Given the description of an element on the screen output the (x, y) to click on. 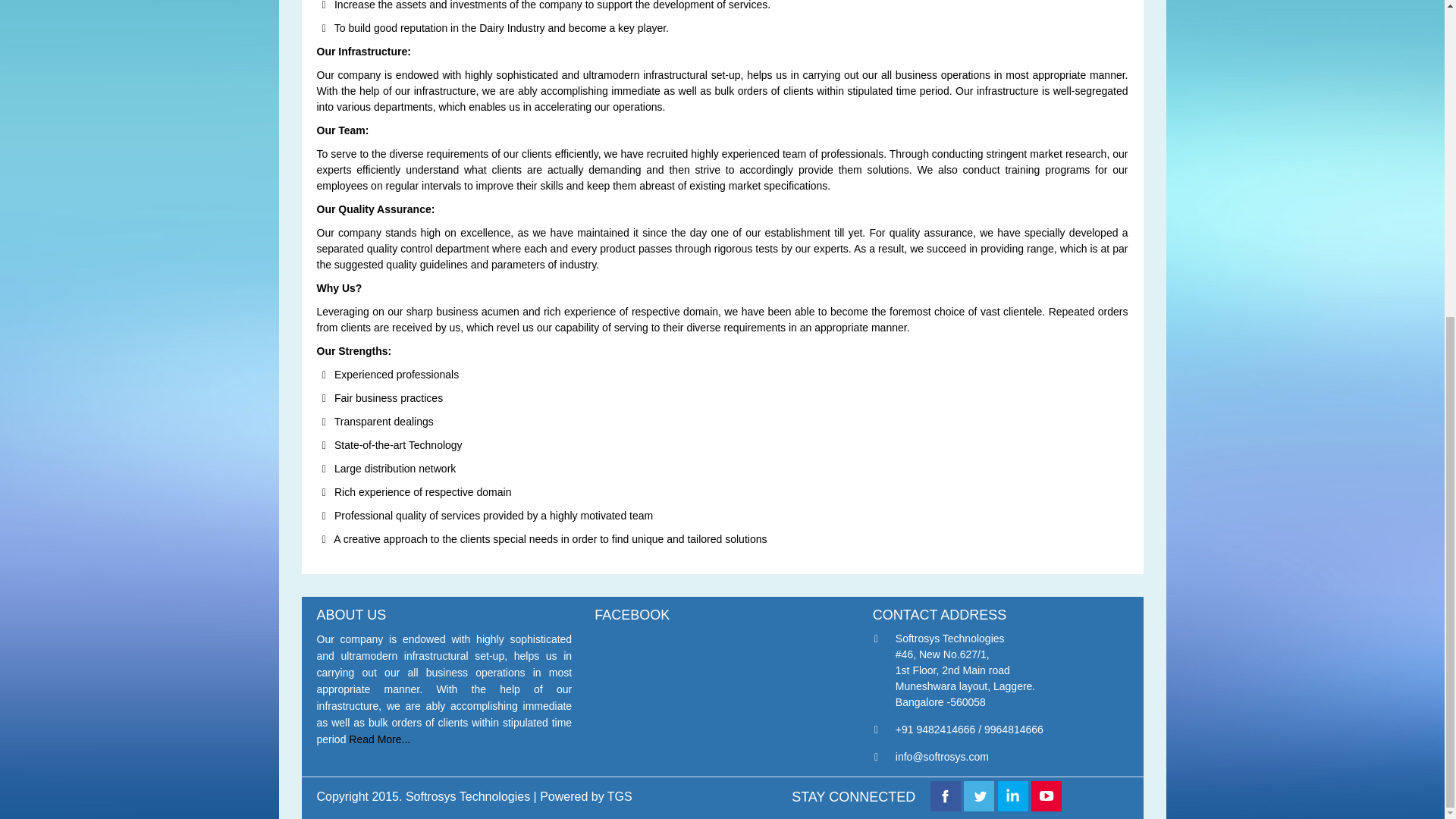
TGS (619, 796)
Youtube (1045, 796)
Twitter (978, 796)
Read More... (379, 739)
Linkedin (1012, 796)
Facebook (945, 796)
